Given the description of an element on the screen output the (x, y) to click on. 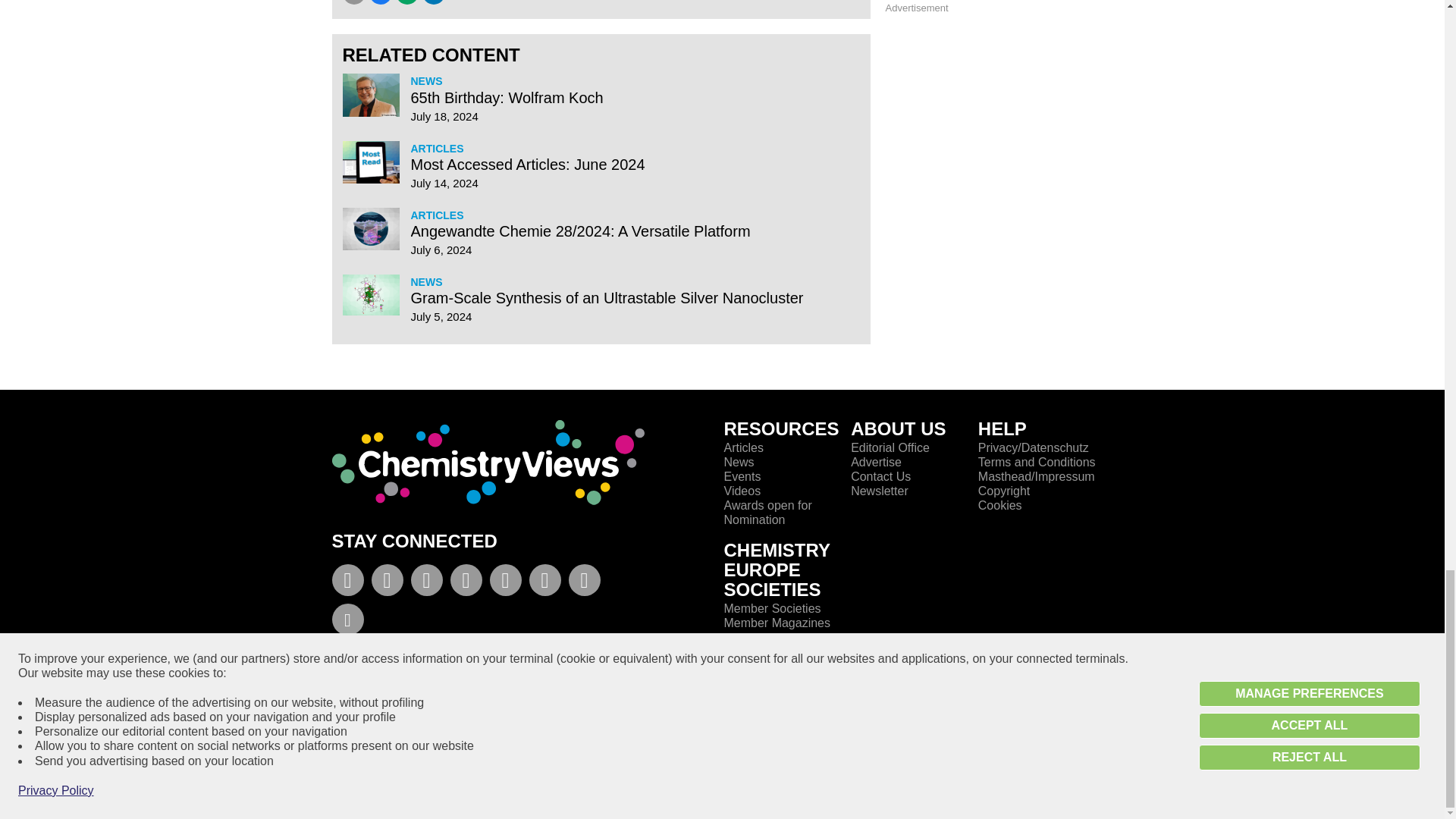
LinkedIn (465, 583)
Share on Facebook (379, 2)
Twitter (387, 583)
RSS (544, 583)
Mastodon (584, 583)
Share on Twitter (407, 2)
Facebook (347, 583)
YouTube (426, 583)
Share on Email (353, 2)
Instagram (505, 583)
Share on LinkedIn (433, 2)
Bluesky (347, 621)
